Given the description of an element on the screen output the (x, y) to click on. 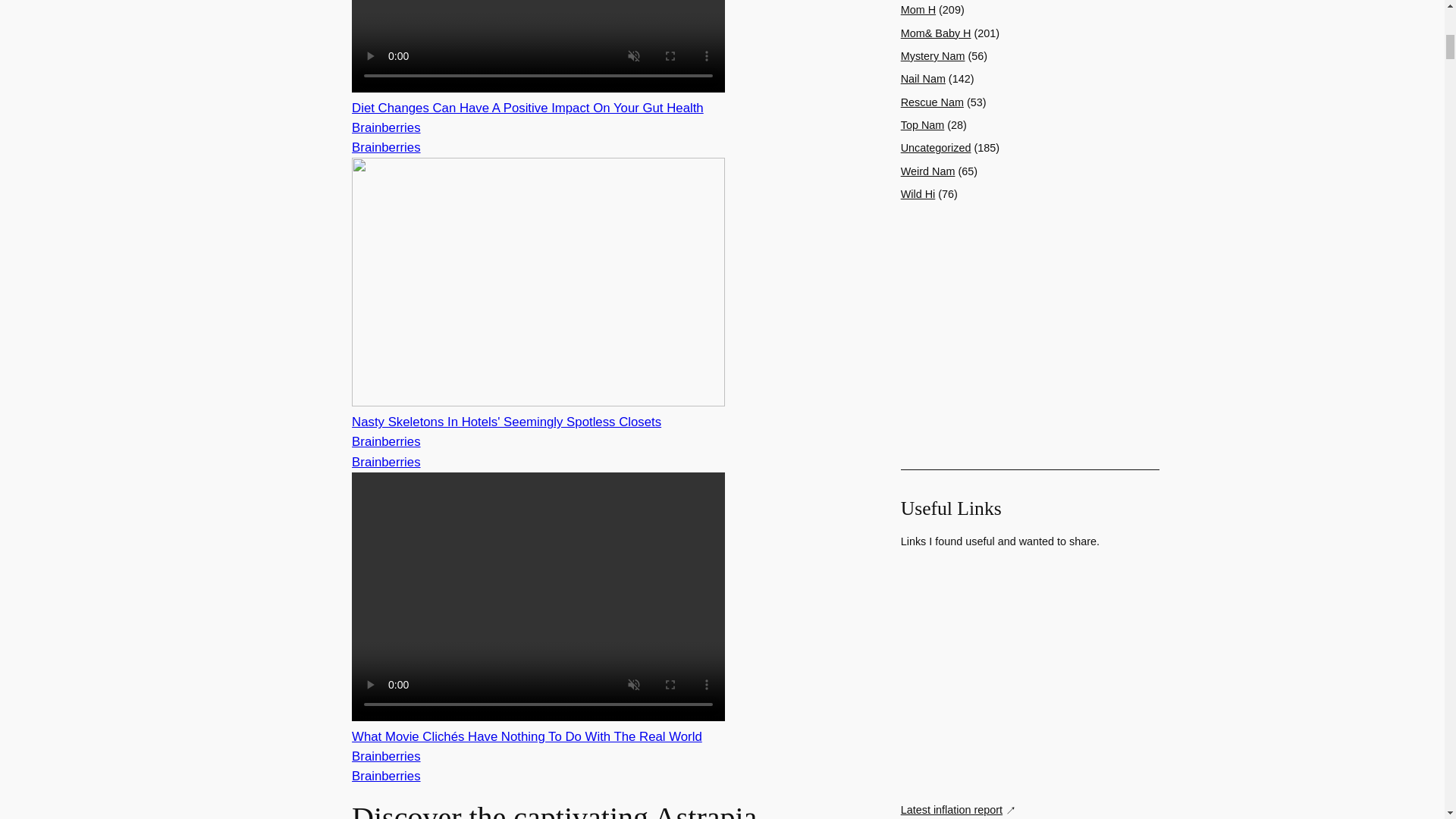
Wild Hi (918, 193)
Nail Nam (922, 78)
Uncategorized (936, 147)
Rescue Nam (932, 102)
Top Nam (922, 124)
Advertisement (1029, 675)
Latest inflation report (958, 810)
Weird Nam (928, 171)
Mystery Nam (933, 55)
Advertisement (1029, 336)
